Given the description of an element on the screen output the (x, y) to click on. 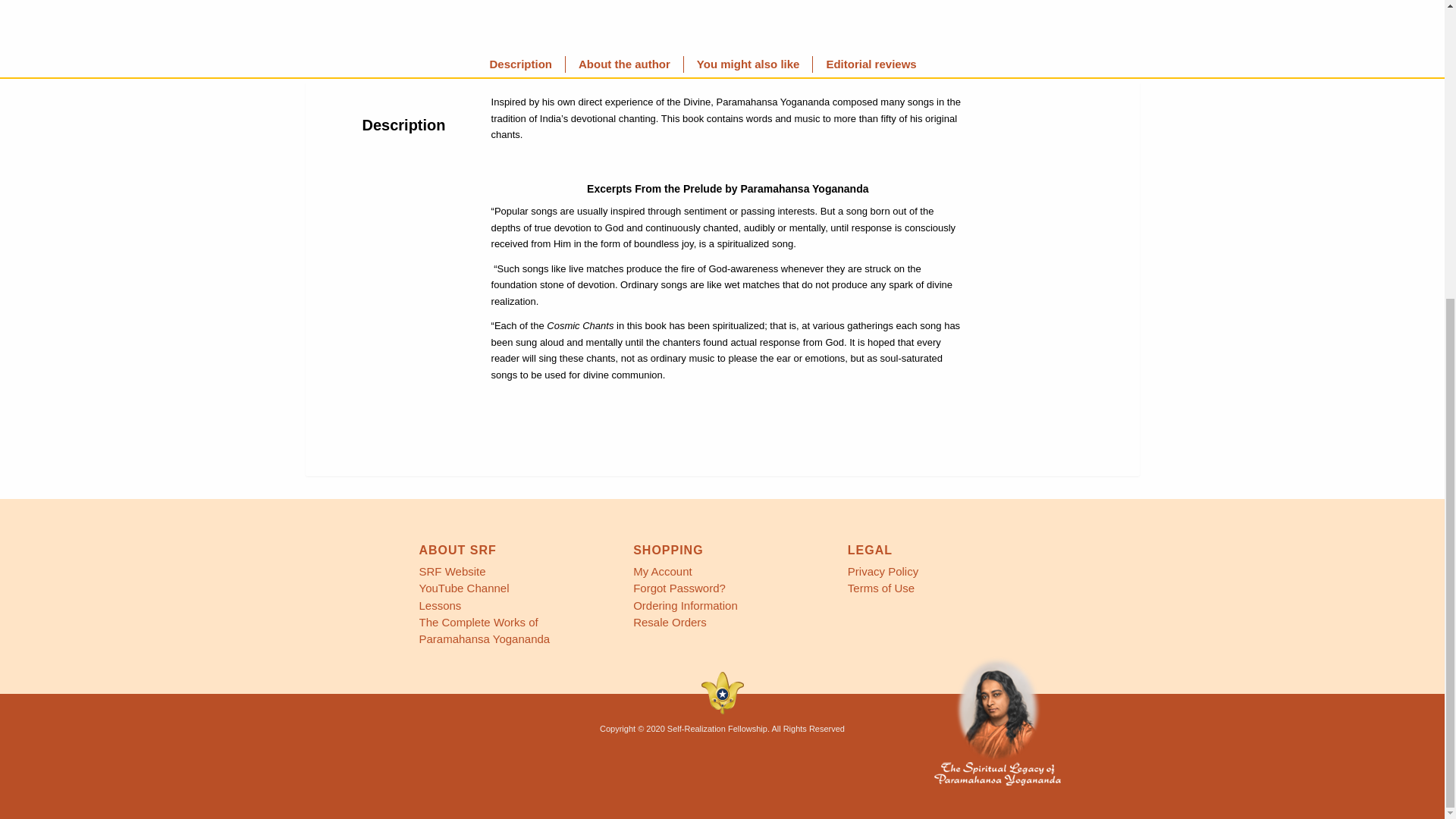
You might also like (747, 64)
About the author (624, 64)
Editorial reviews (870, 64)
Description (521, 64)
